Given the description of an element on the screen output the (x, y) to click on. 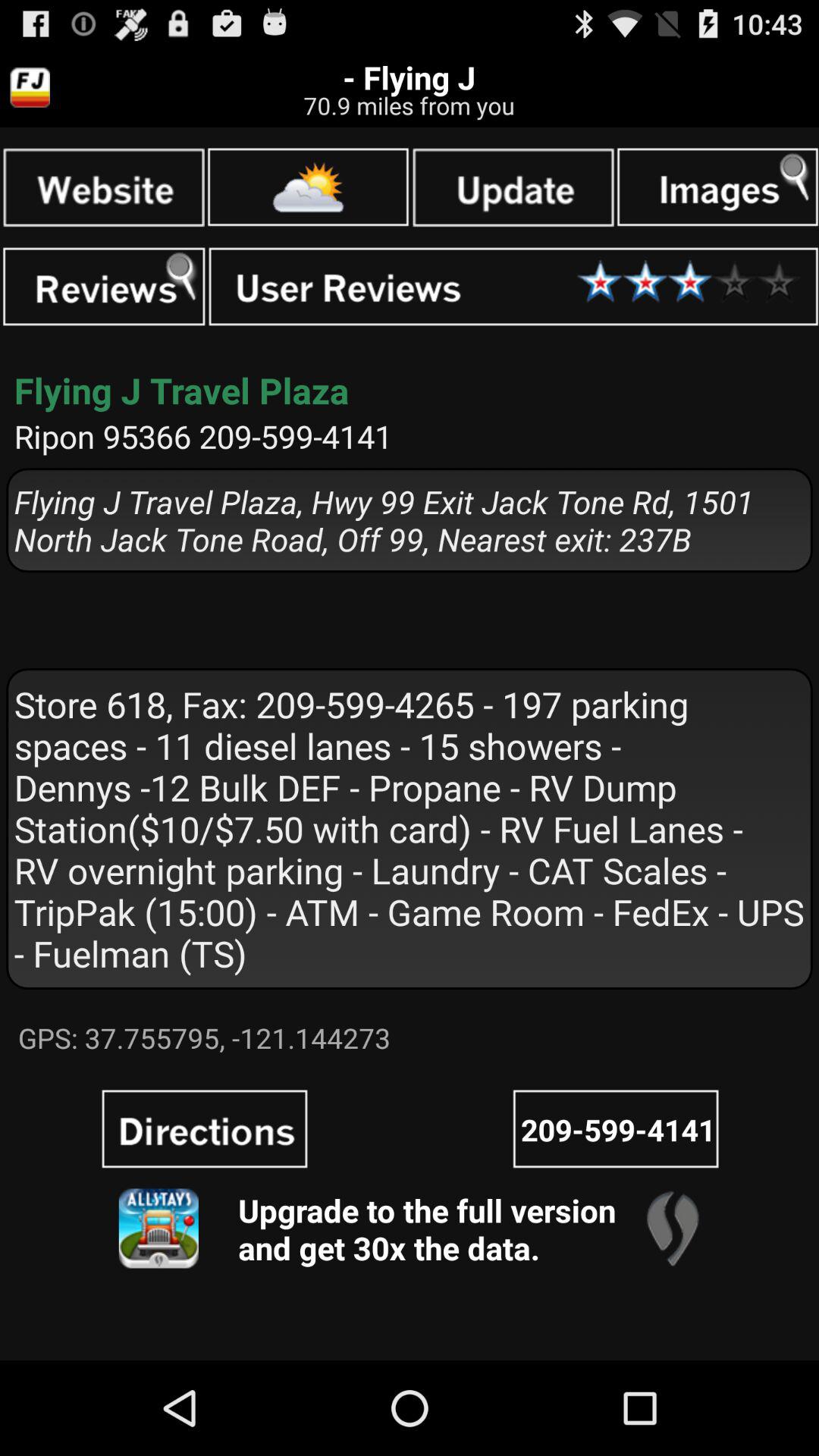
toggle website (103, 186)
